Given the description of an element on the screen output the (x, y) to click on. 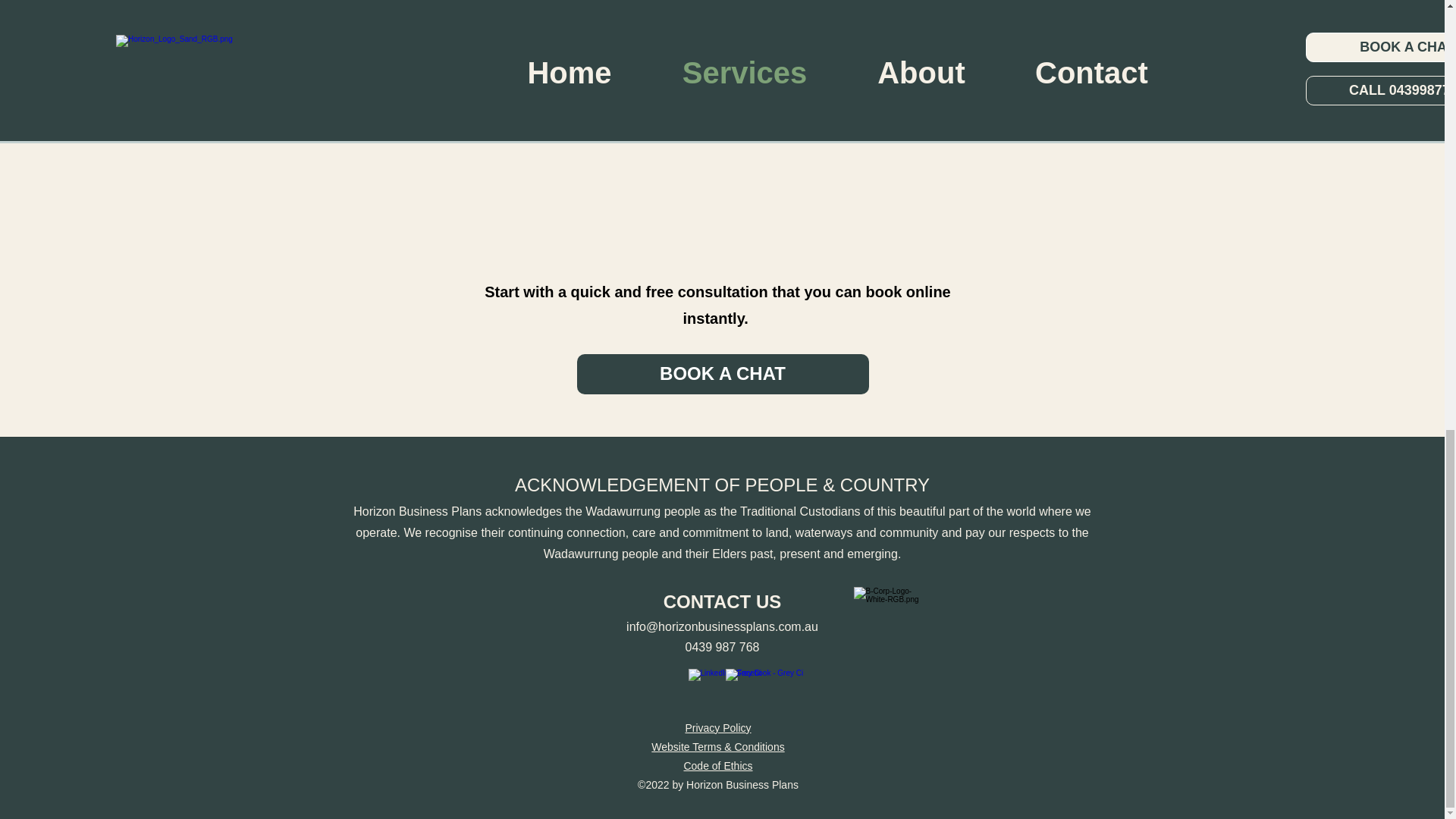
BOOK A CHAT (721, 373)
0439 987 768 (722, 646)
Privacy Policy (717, 727)
Code of Ethics (717, 766)
CONTACT US (722, 601)
